Given the description of an element on the screen output the (x, y) to click on. 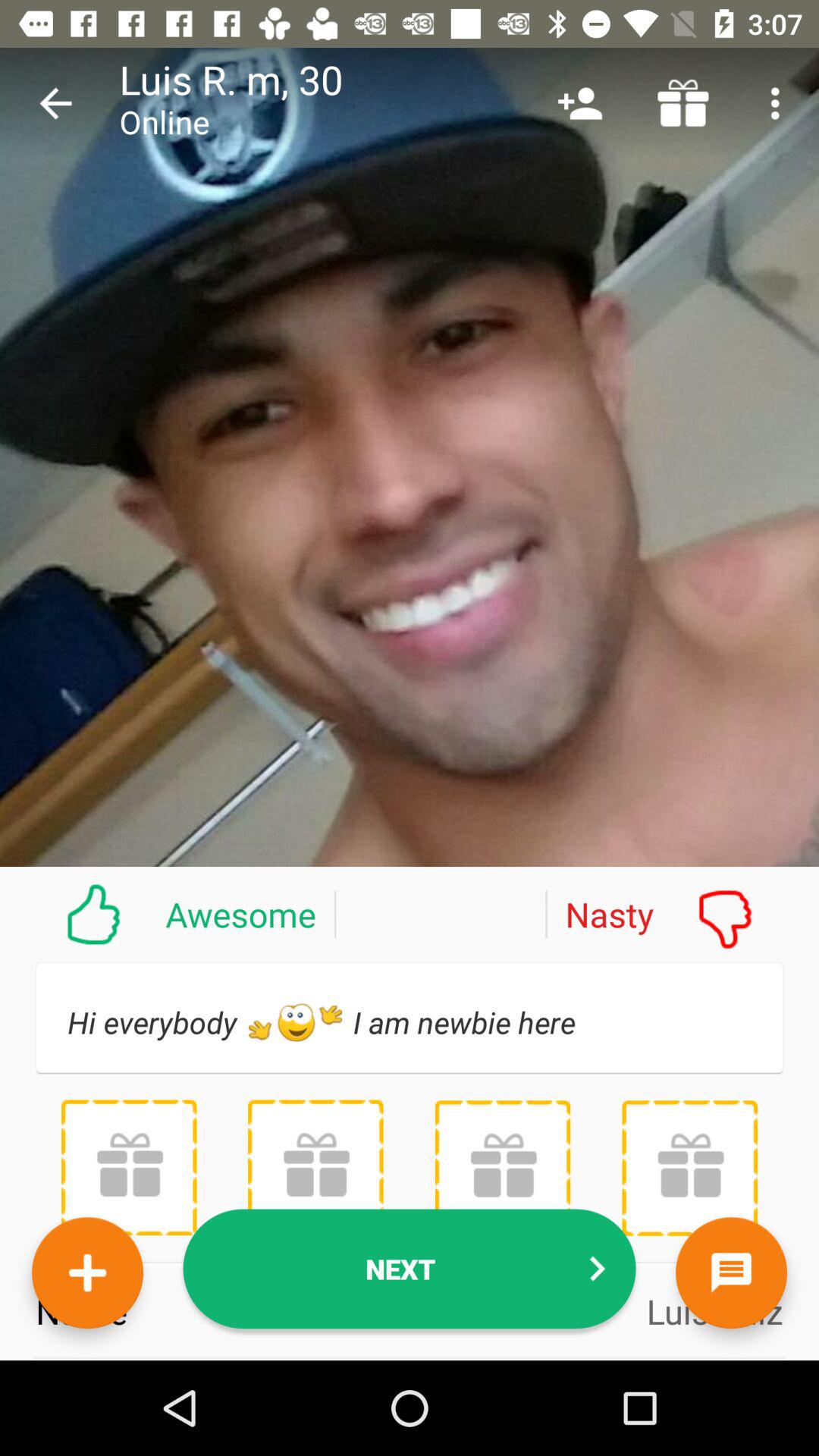
tap item next to luis r. icon (55, 103)
